Given the description of an element on the screen output the (x, y) to click on. 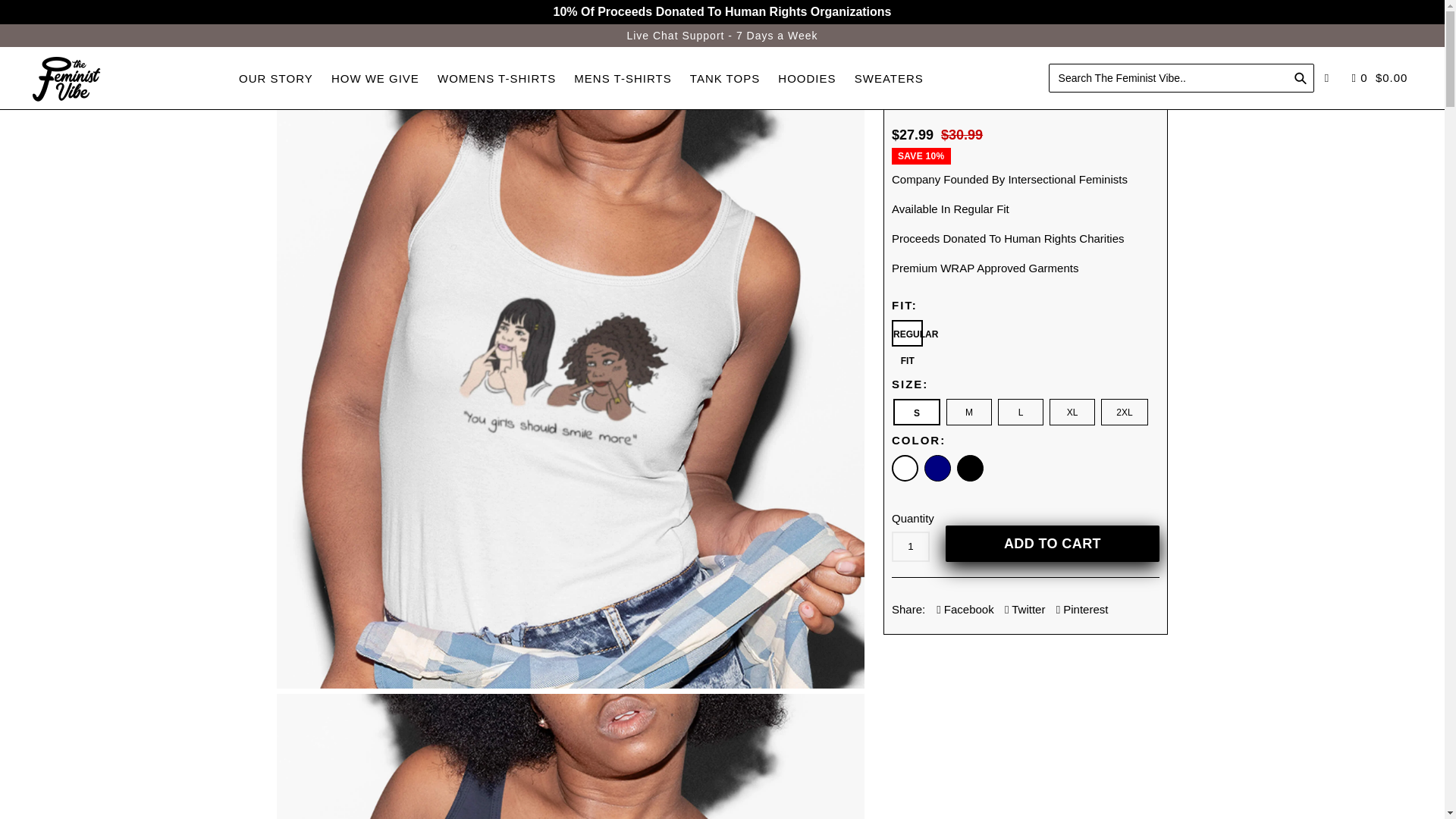
WOMENS T-SHIRTS (496, 78)
1 (910, 546)
HOW WE GIVE (374, 78)
TANK TOPS (724, 78)
Twitter (1024, 609)
SWEATERS (889, 78)
OUR STORY (275, 78)
Facebook (965, 609)
MENS T-SHIRTS (622, 78)
Share on Facebook (965, 609)
ADD TO CART (1051, 543)
Pinterest (1082, 609)
ADD TO CART (1051, 543)
HOODIES (806, 78)
